Given the description of an element on the screen output the (x, y) to click on. 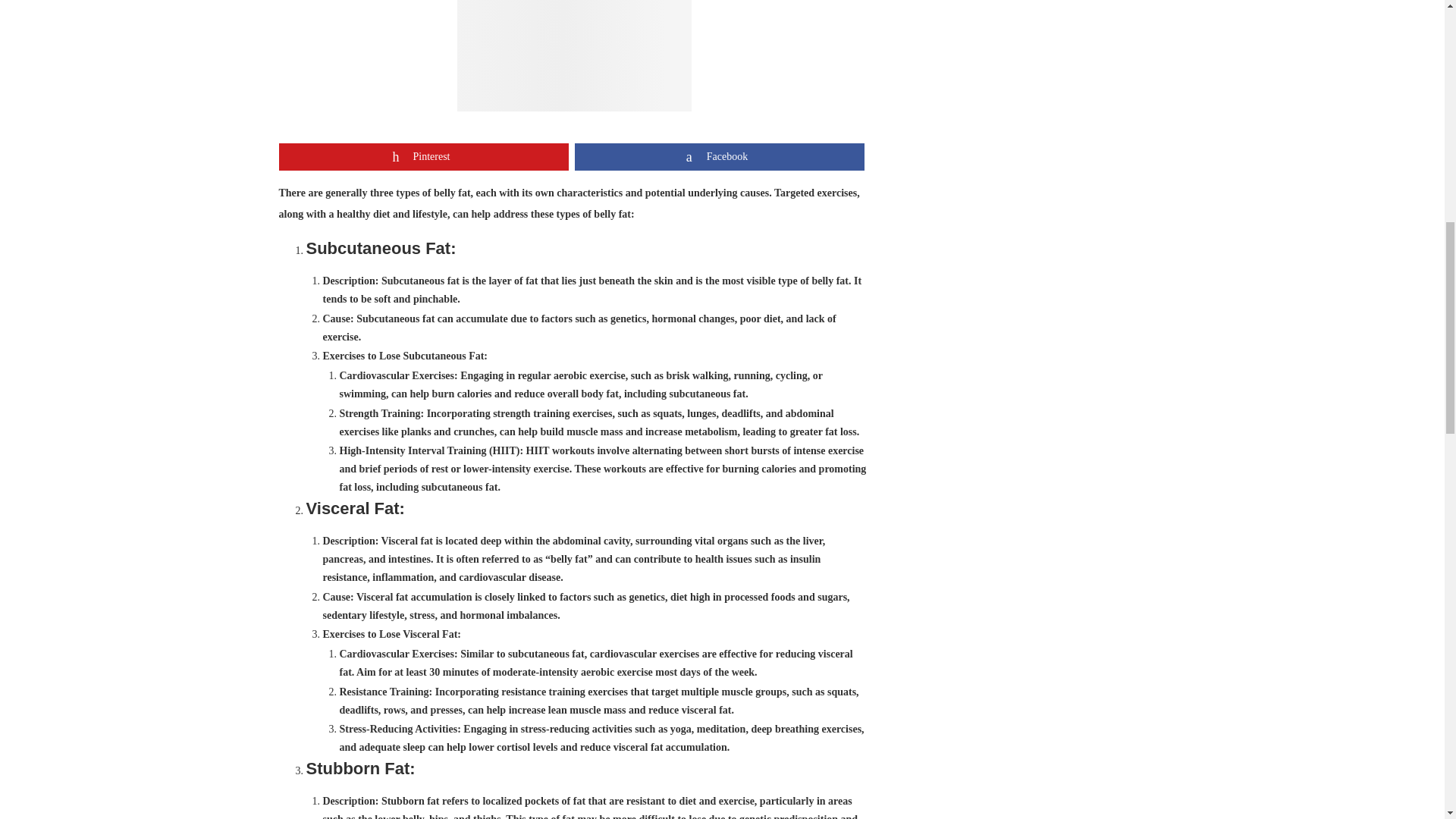
Facebook (719, 156)
Share on Pinterest (424, 156)
Pinterest (424, 156)
Share on Facebook (719, 156)
